Given the description of an element on the screen output the (x, y) to click on. 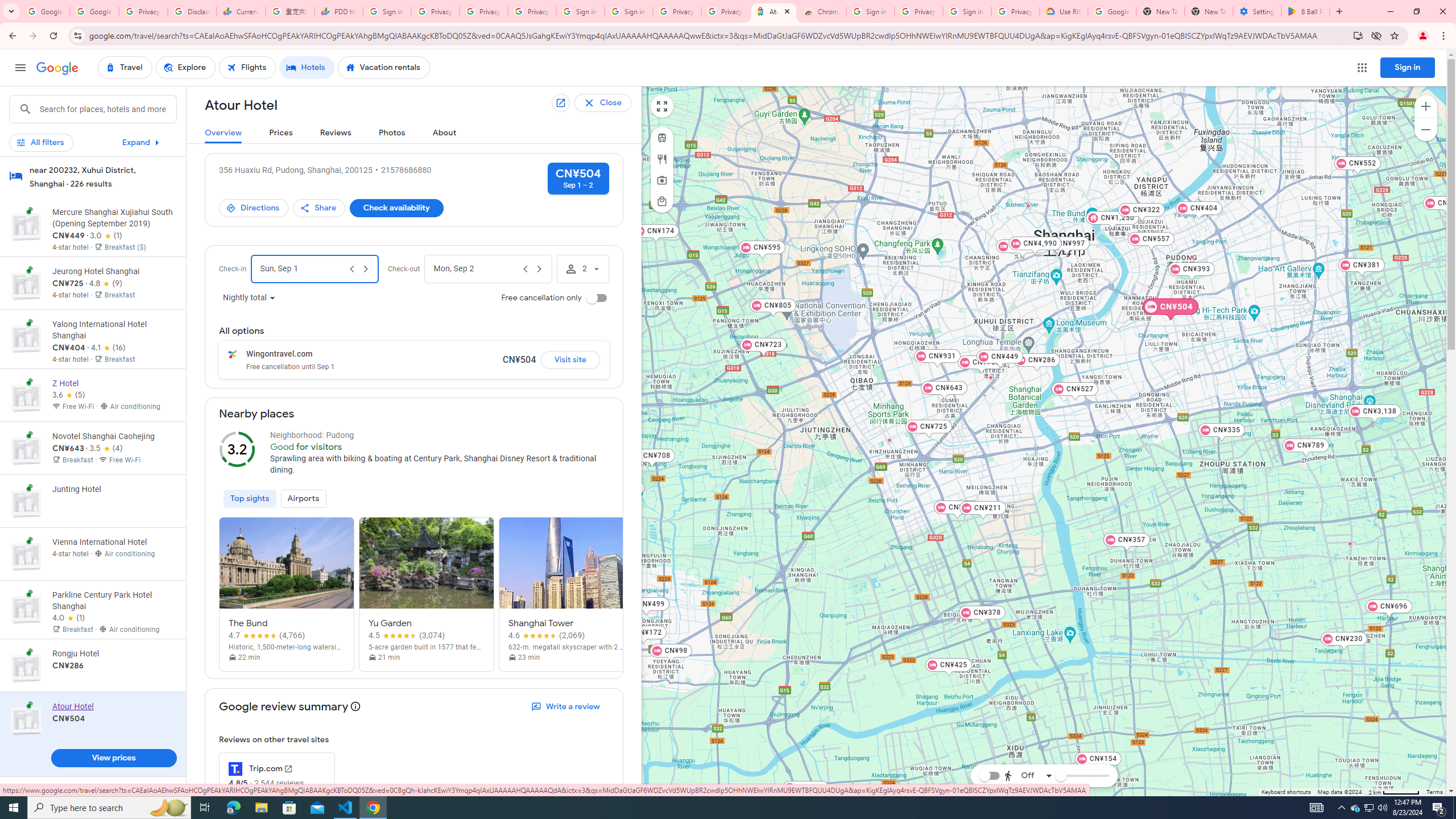
About (444, 133)
Free cancellation only (596, 298)
Main menu (20, 67)
Privacy Checkup (483, 11)
Check availability (396, 208)
View prices for Yalong International Hotel Shanghai (113, 382)
Areas for dining (661, 158)
View larger map (661, 106)
